Given the description of an element on the screen output the (x, y) to click on. 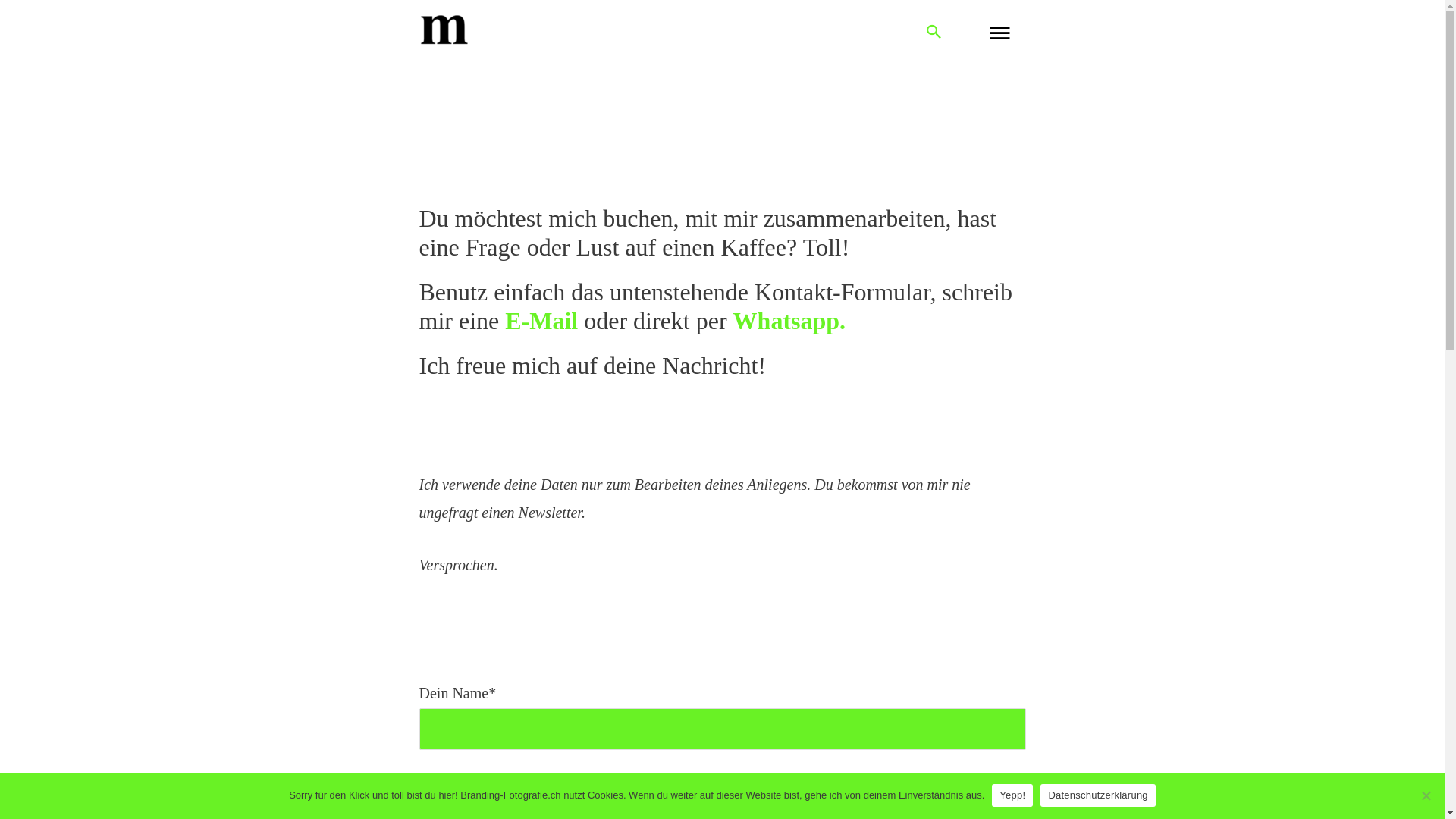
Yepp! Element type: text (1011, 795)
Whatsapp. Element type: text (789, 320)
Nein Element type: hover (1425, 795)
E-Mail Element type: text (541, 320)
